Given the description of an element on the screen output the (x, y) to click on. 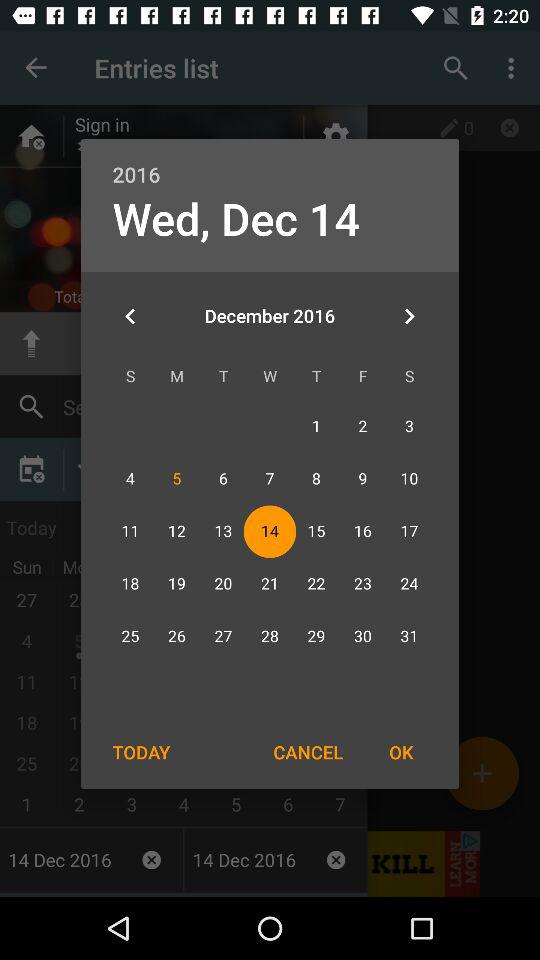
swipe to the ok item (401, 751)
